Given the description of an element on the screen output the (x, y) to click on. 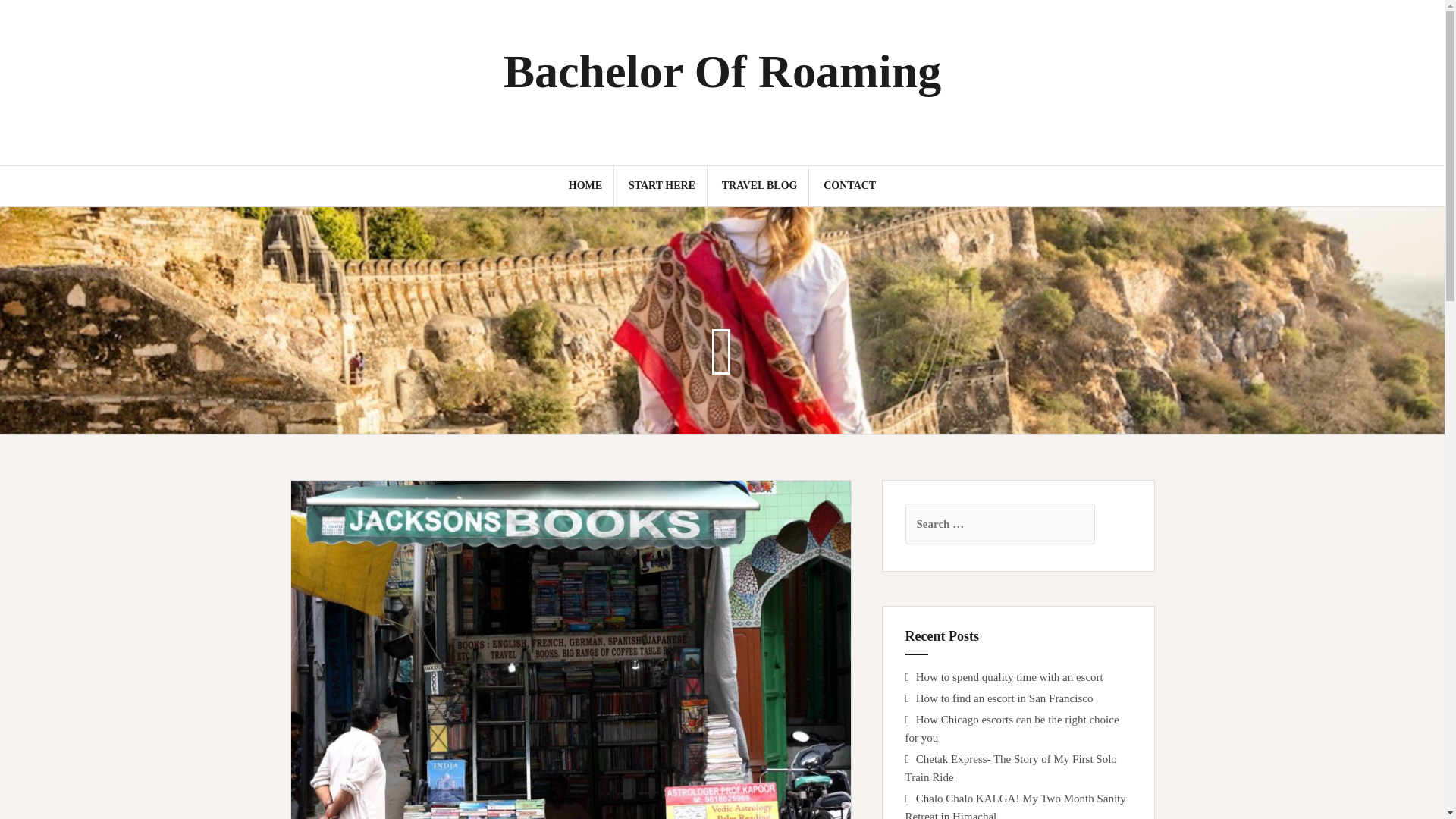
Chetak Express- The Story of My First Solo Train Ride (1010, 767)
START HERE (661, 185)
Chalo Chalo KALGA! My Two Month Sanity Retreat in Himachal.. (1015, 805)
CONTACT (850, 185)
How to find an escort in San Francisco (1004, 698)
TRAVEL BLOG (759, 185)
Search (28, 20)
Bachelor Of Roaming (722, 71)
How to spend quality time with an escort (1009, 676)
How Chicago escorts can be the right choice for you (1012, 728)
